Given the description of an element on the screen output the (x, y) to click on. 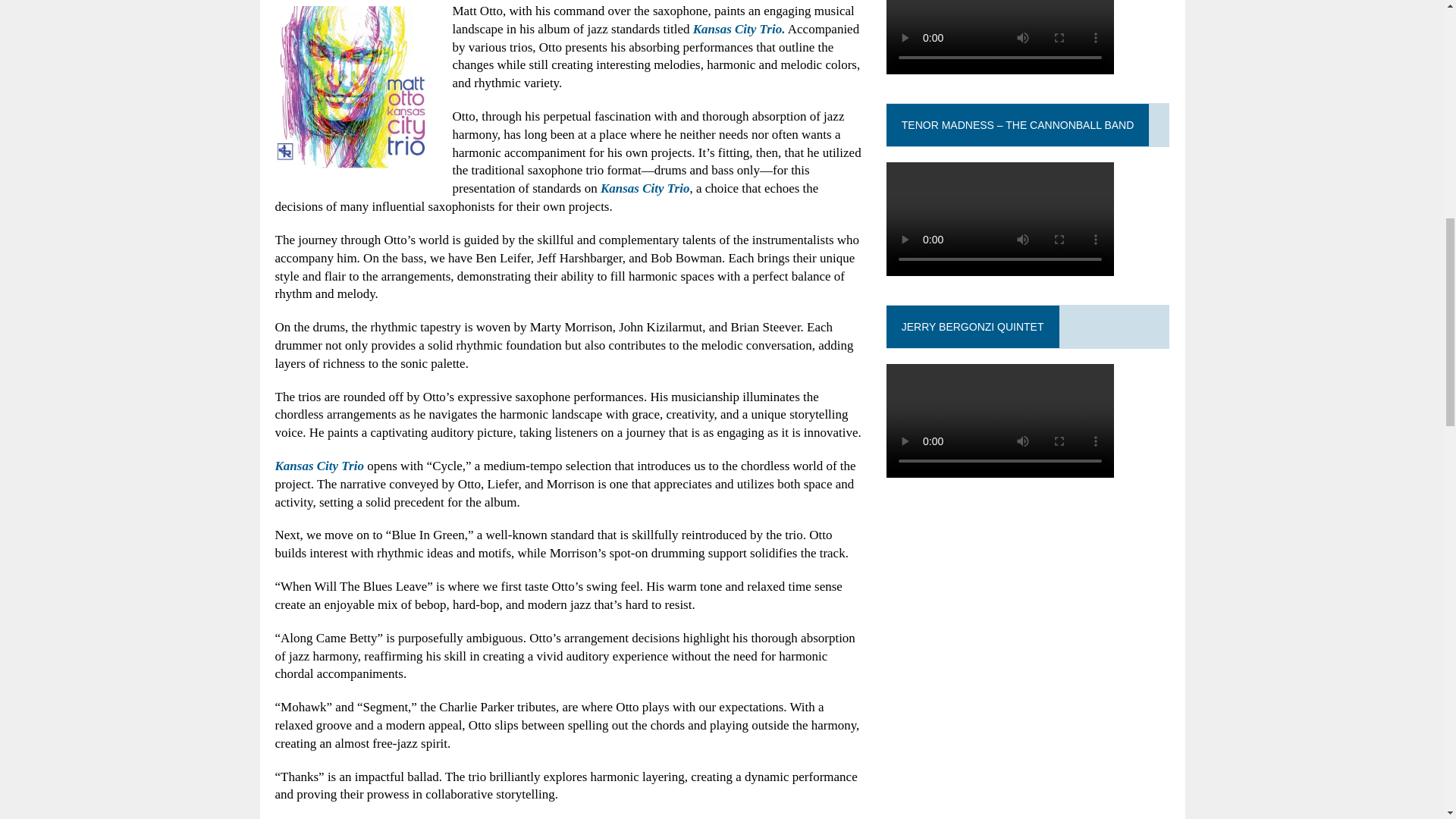
Kansas City Trio (643, 187)
Kansas City Trio (318, 465)
Kansas City Trio. (739, 29)
